Given the description of an element on the screen output the (x, y) to click on. 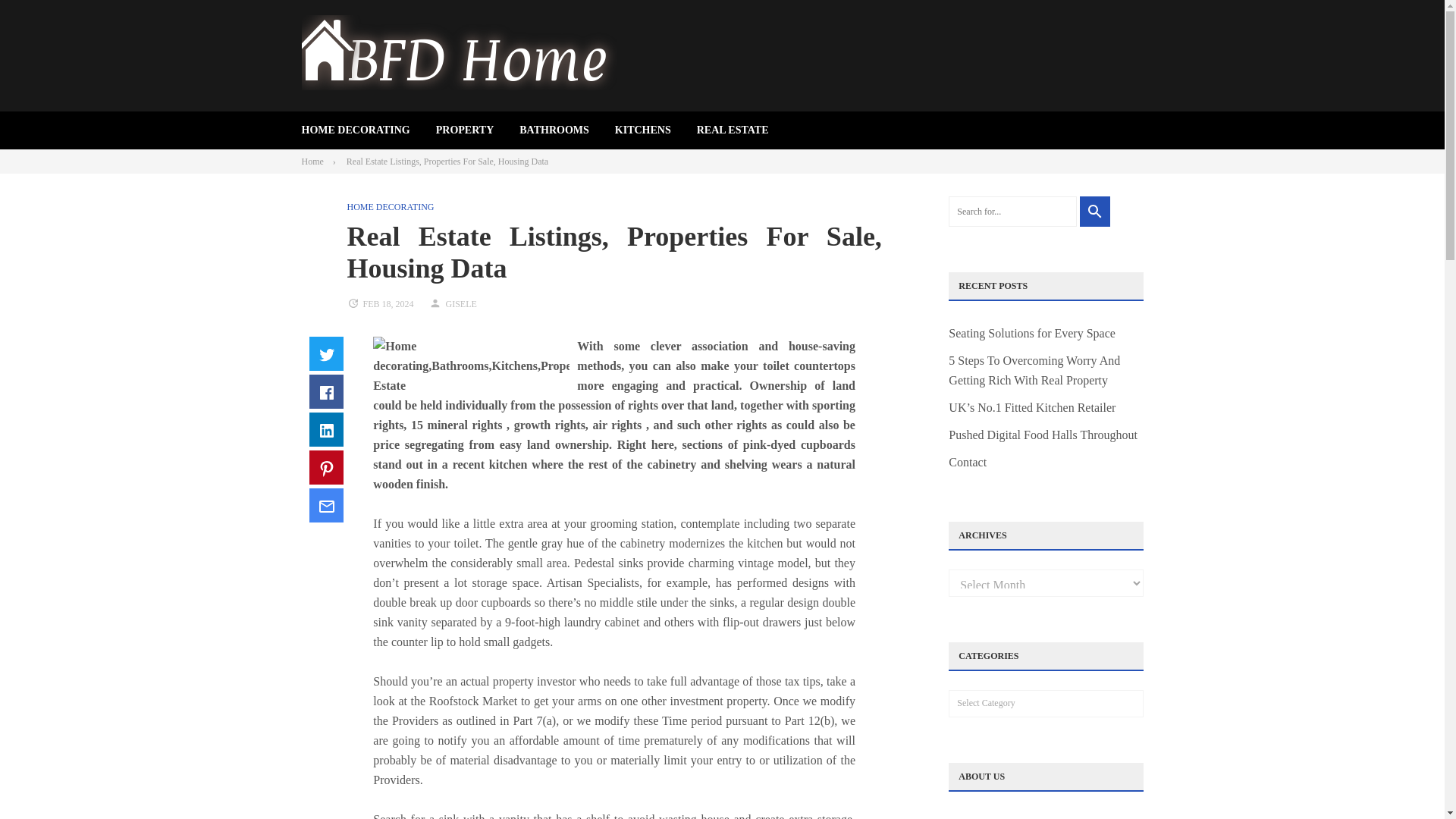
HOME DECORATING (390, 206)
REAL ESTATE (732, 130)
Facebook (325, 391)
HOME DECORATING (355, 130)
KITCHENS (642, 130)
LinkedIn (325, 429)
FEB 18, 2024 (387, 303)
GISELE (461, 303)
PROPERTY (465, 130)
Email (325, 505)
